Given the description of an element on the screen output the (x, y) to click on. 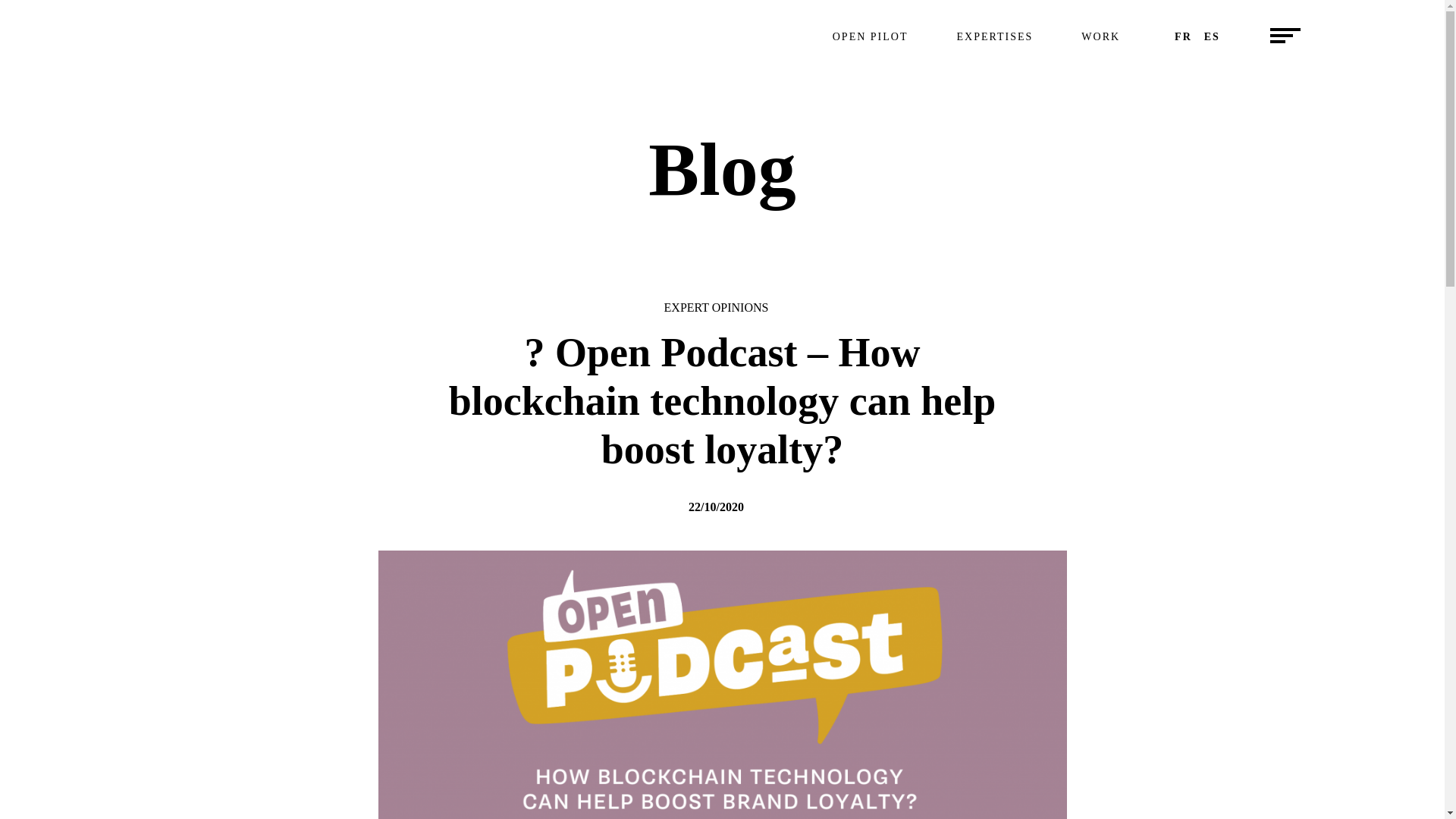
FR (722, 37)
EXPERTISES (1183, 37)
ES (994, 37)
OPEN PILOT (1212, 37)
WORK (870, 37)
